Given the description of an element on the screen output the (x, y) to click on. 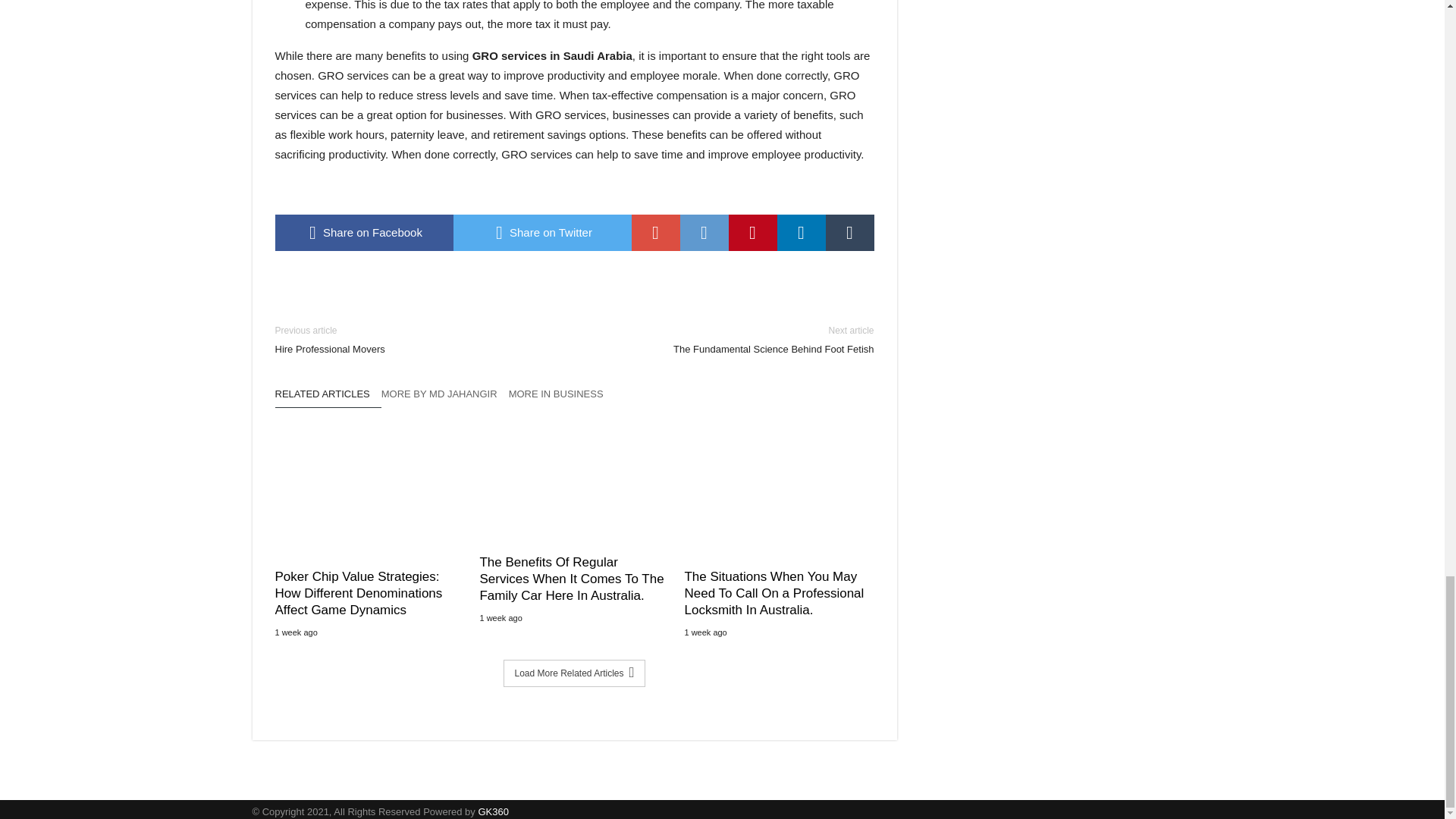
reddit (703, 232)
google (654, 232)
facebook (363, 232)
twitter (541, 232)
